Given the description of an element on the screen output the (x, y) to click on. 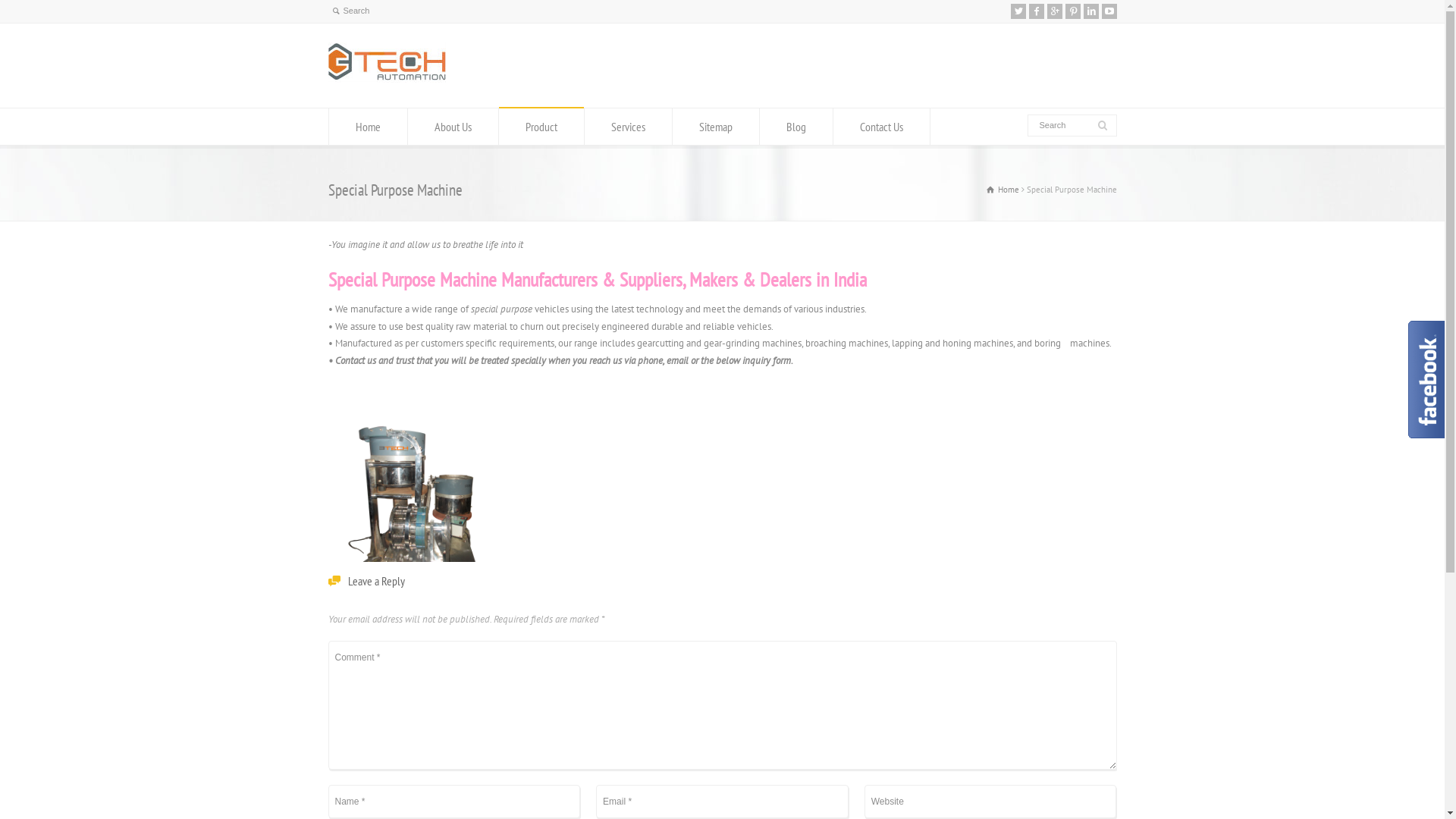
About Us Element type: text (452, 126)
3Tech Automation Element type: hover (386, 78)
Sitemap Element type: text (714, 126)
Facebook Element type: hover (1035, 10)
Home Element type: text (368, 126)
Twitter Element type: hover (1017, 10)
Linkedin Element type: hover (1090, 10)
Product Element type: text (540, 126)
Blog Element type: text (795, 126)
Pinterest Element type: hover (1071, 10)
Contact Us Element type: text (880, 126)
Google + Element type: hover (1053, 10)
YouTube Element type: hover (1108, 10)
Home Element type: text (1001, 189)
Services Element type: text (627, 126)
